Given the description of an element on the screen output the (x, y) to click on. 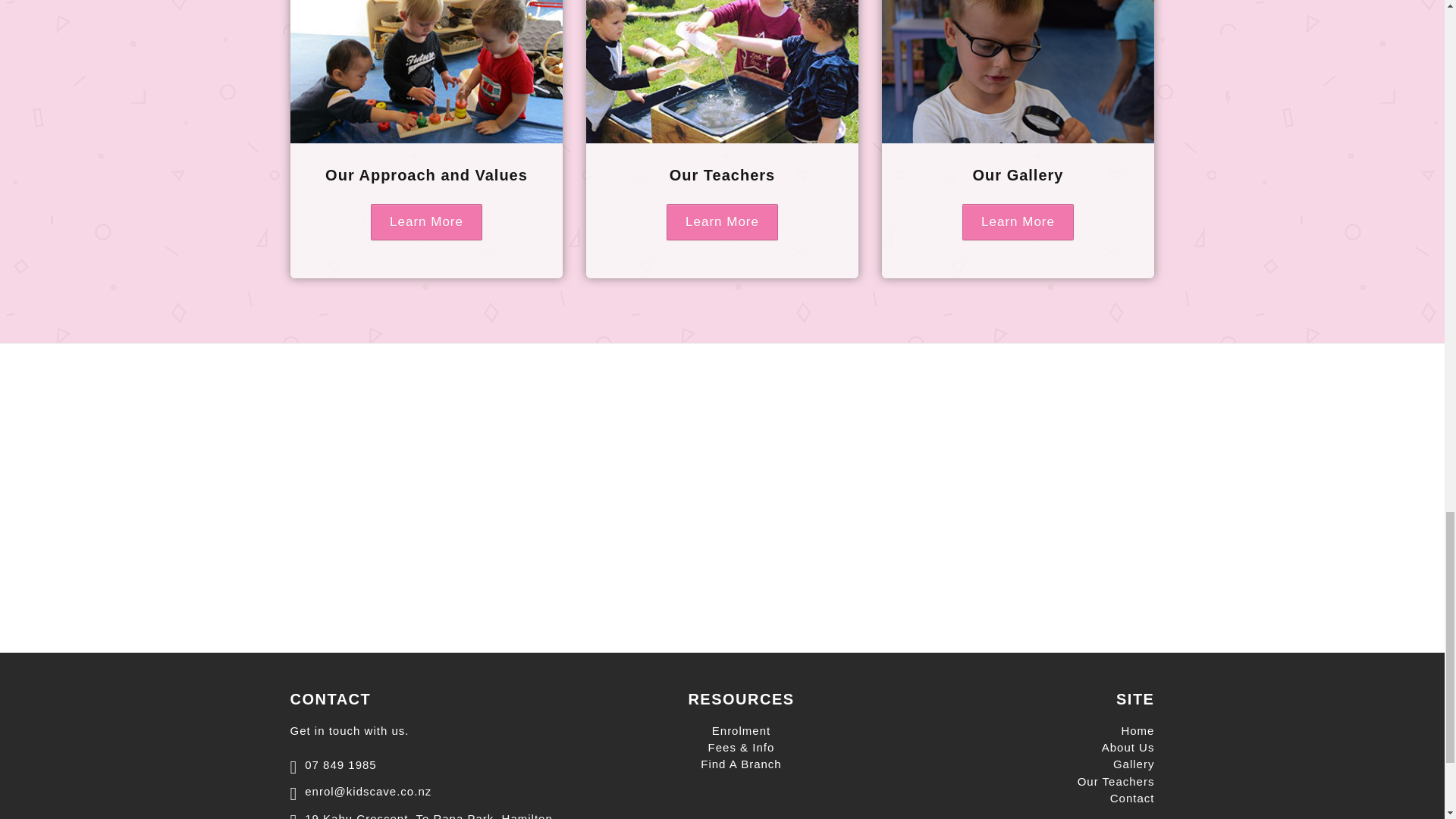
Our Teachers (721, 175)
Our Gallery (1018, 175)
Learn More (1018, 221)
19 Kahu Crescent, Te Rapa Park, Hamilton (420, 813)
07 849 1985 (332, 763)
Learn More (721, 221)
Learn More (426, 221)
Enrolment (740, 730)
Our Approach and Values (425, 175)
